Given the description of an element on the screen output the (x, y) to click on. 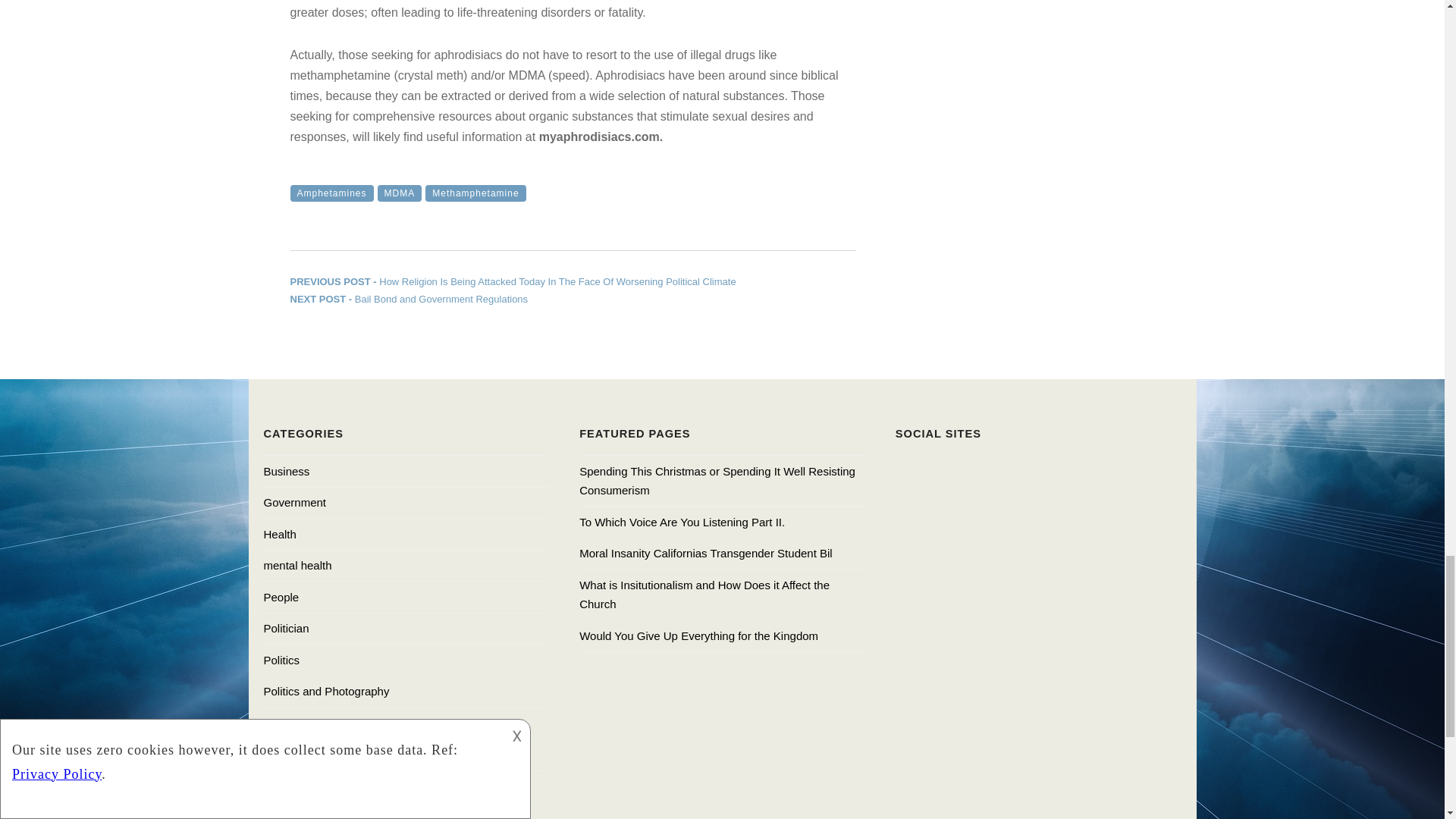
MDMA (408, 298)
Methamphetamine (399, 193)
Amphetamines (475, 193)
